Given the description of an element on the screen output the (x, y) to click on. 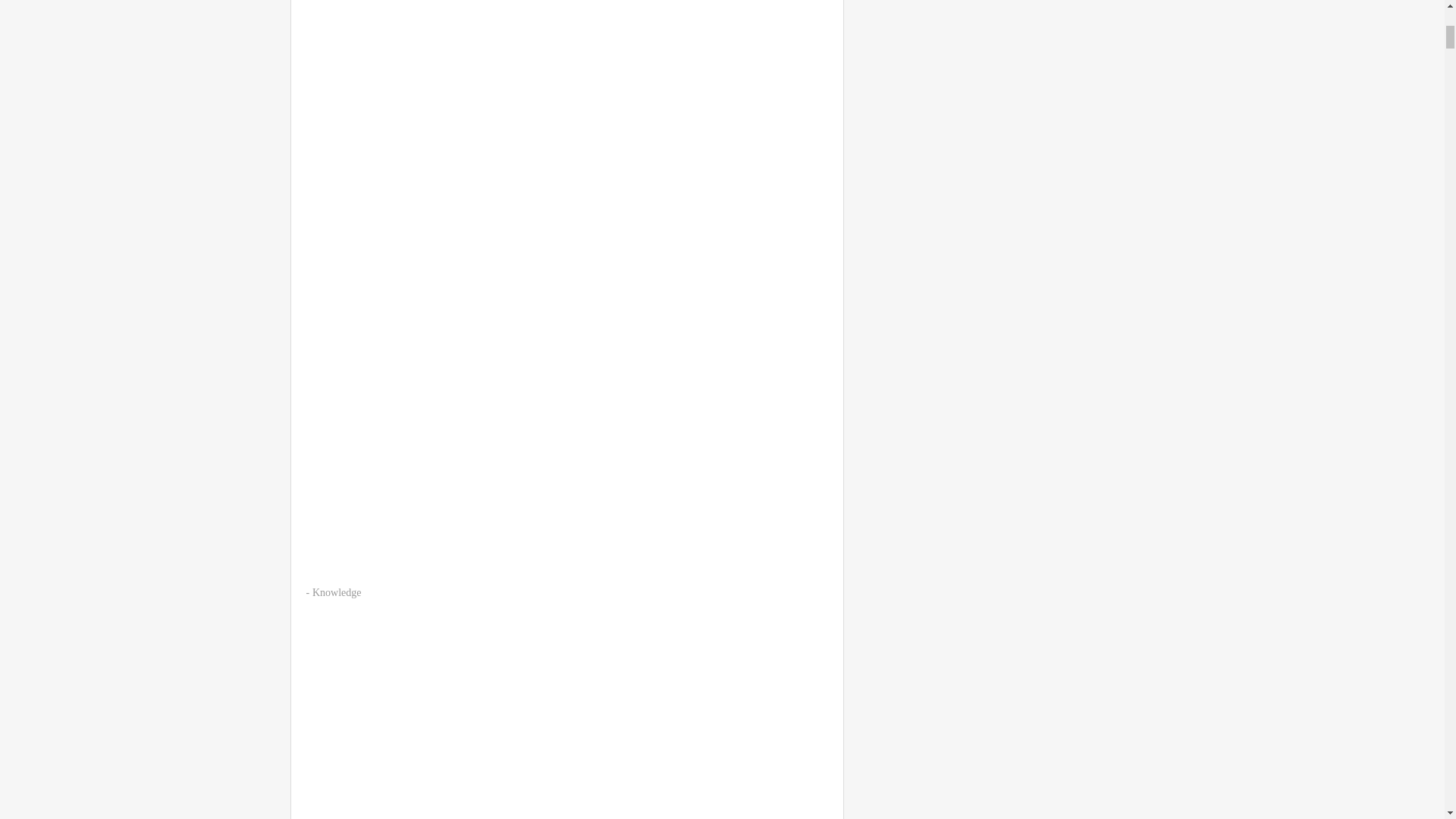
Knowledge (337, 592)
